Given the description of an element on the screen output the (x, y) to click on. 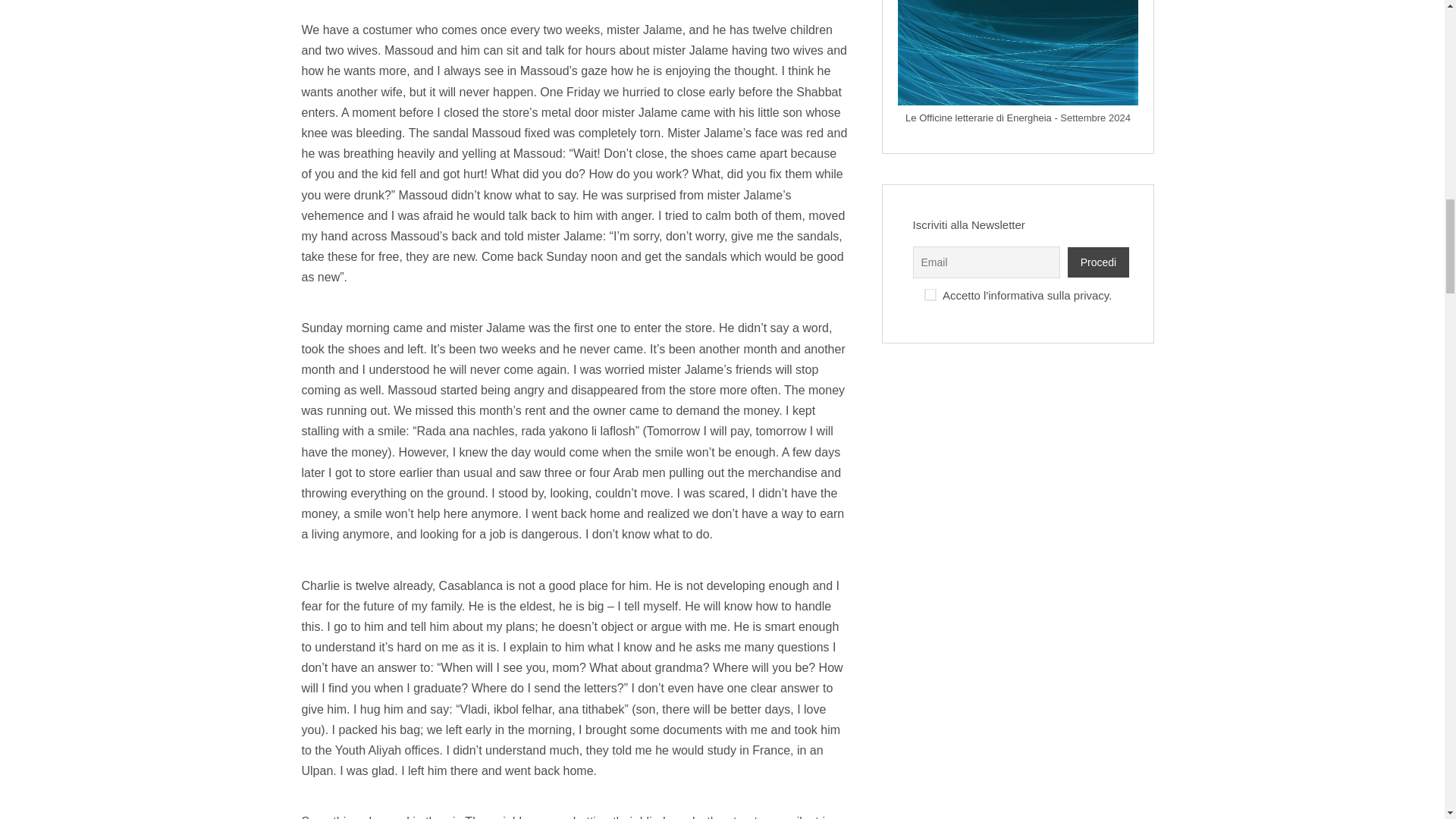
Procedi (1098, 262)
on (930, 295)
